Given the description of an element on the screen output the (x, y) to click on. 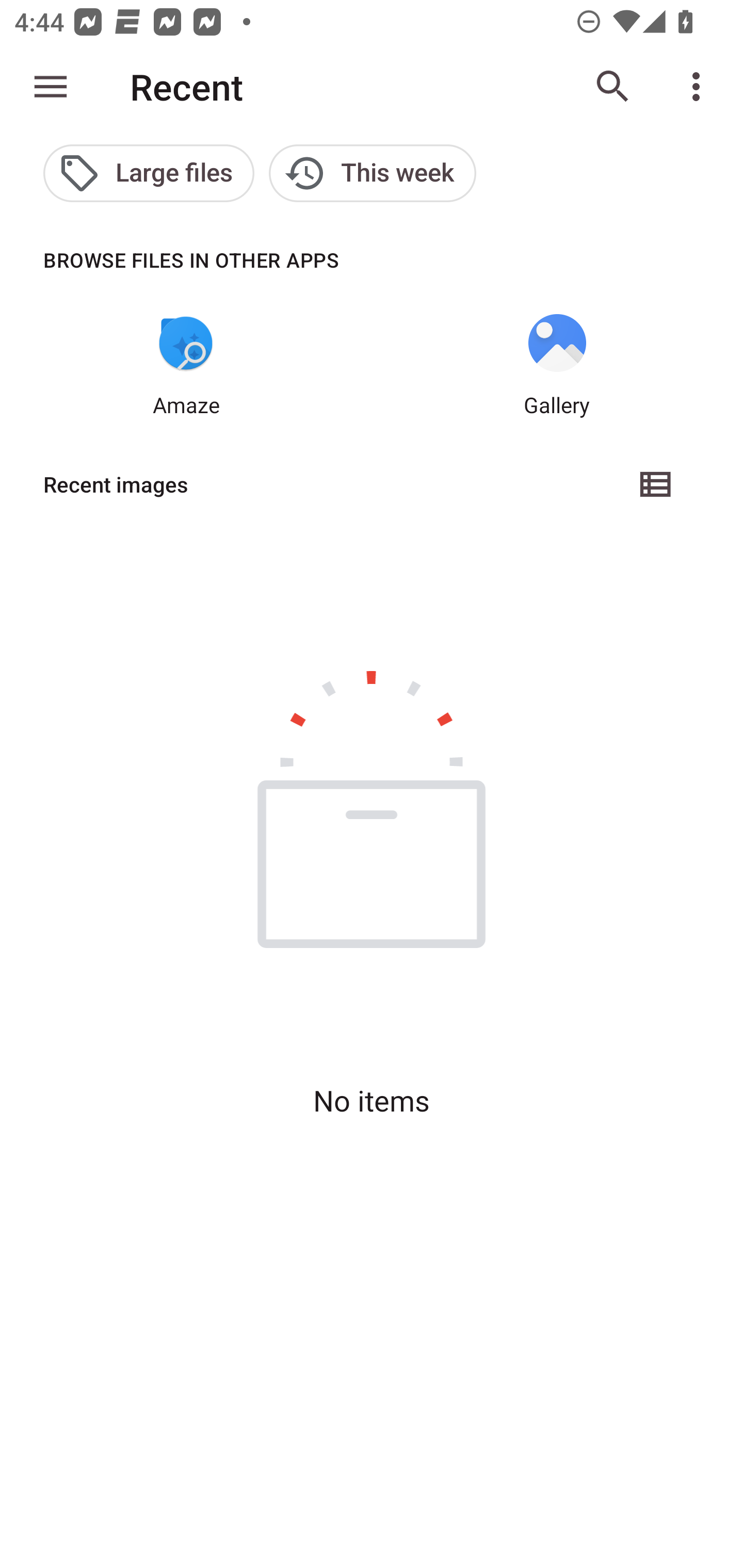
Show roots (50, 86)
Search (612, 86)
More options (699, 86)
Large files (148, 173)
This week (372, 173)
Amaze (185, 365)
Gallery (557, 365)
List view (655, 484)
